Given the description of an element on the screen output the (x, y) to click on. 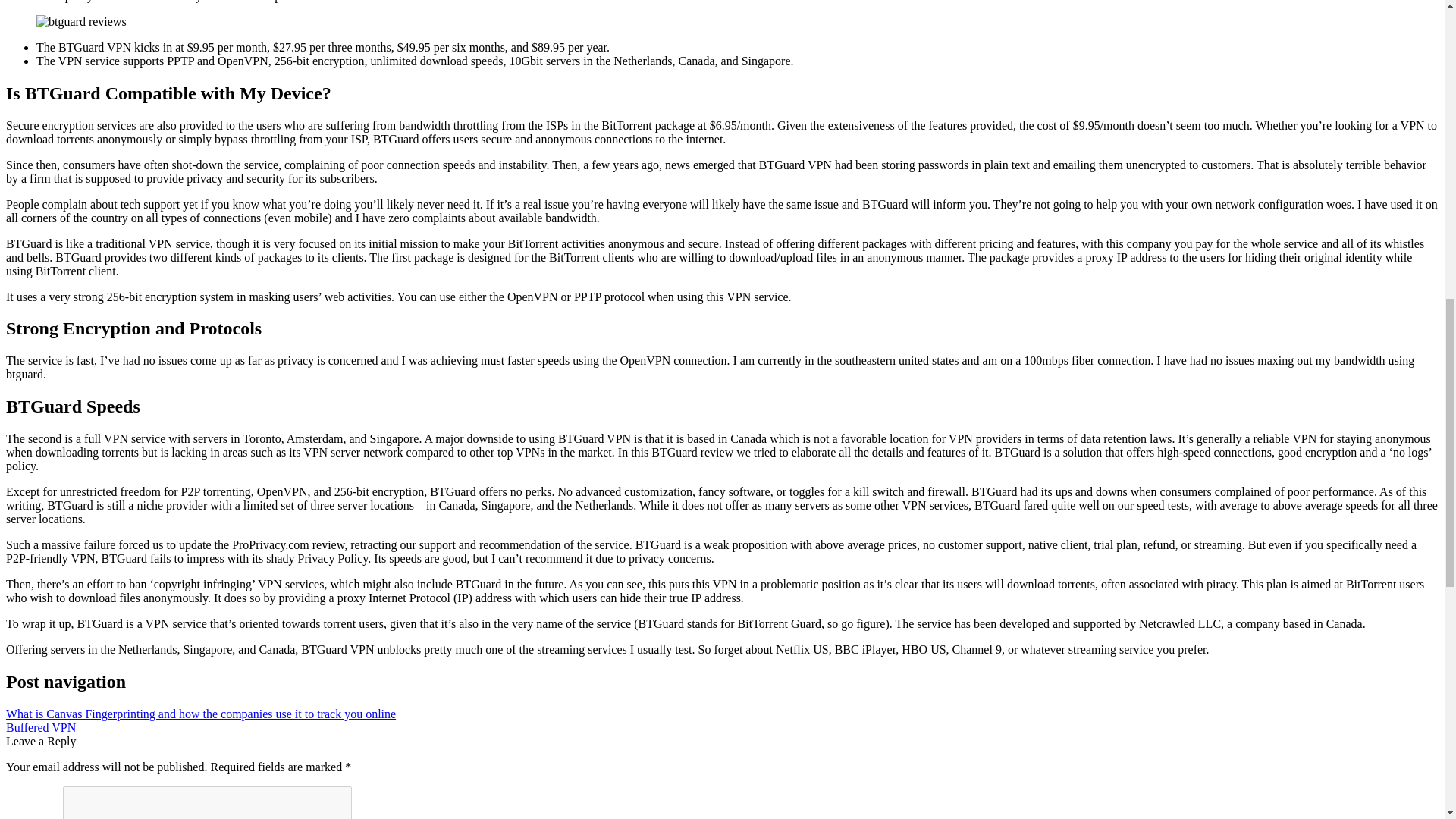
Buffered VPN (40, 727)
